Given the description of an element on the screen output the (x, y) to click on. 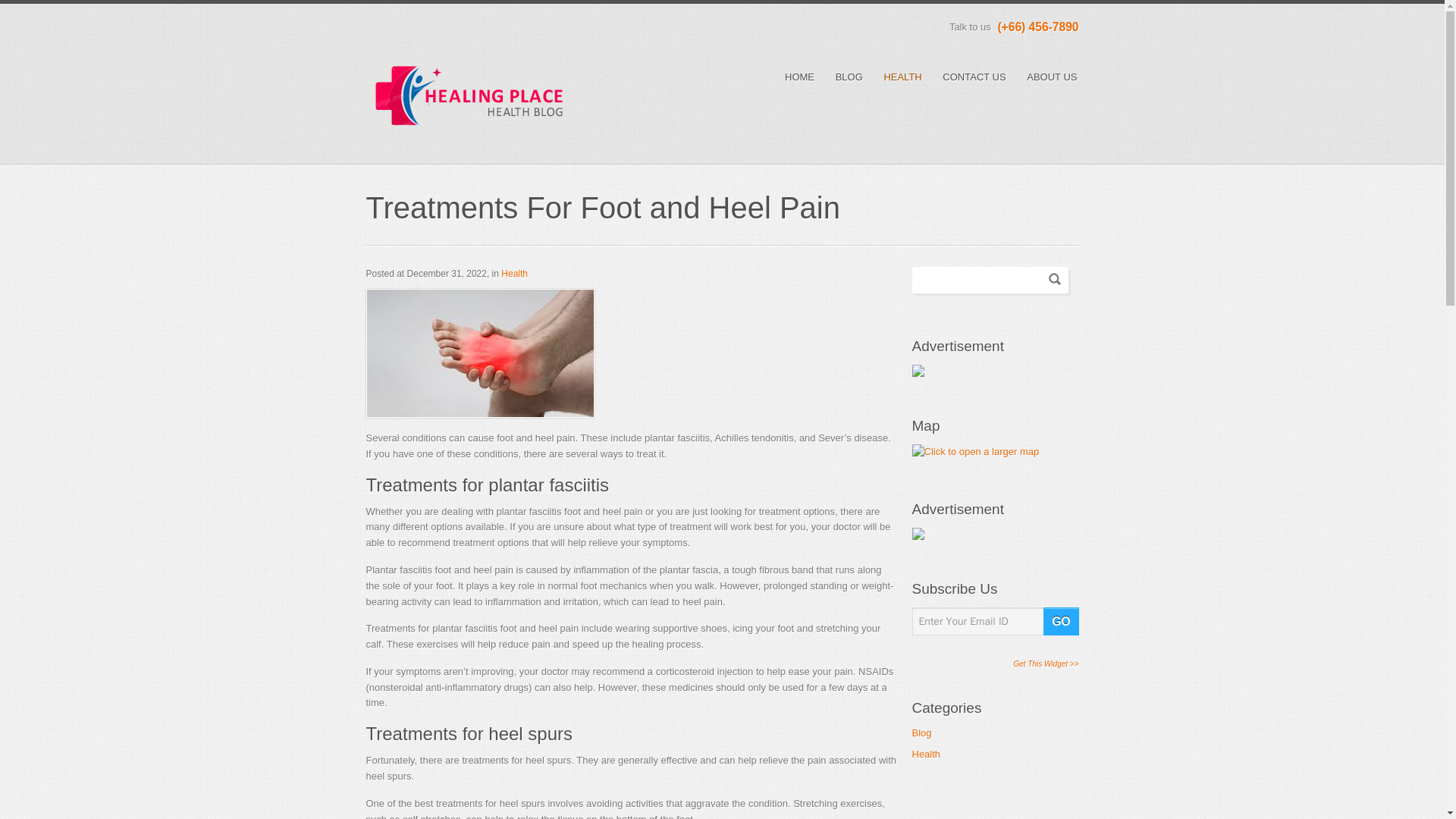
Blog (921, 734)
Click to open a larger map (975, 452)
Health (925, 755)
ABOUT US (1051, 77)
HOME (798, 77)
Search (1054, 278)
CONTACT US (974, 77)
BLOG (849, 77)
Click to open a larger map (975, 451)
Enter Your Email ID (994, 621)
